Given the description of an element on the screen output the (x, y) to click on. 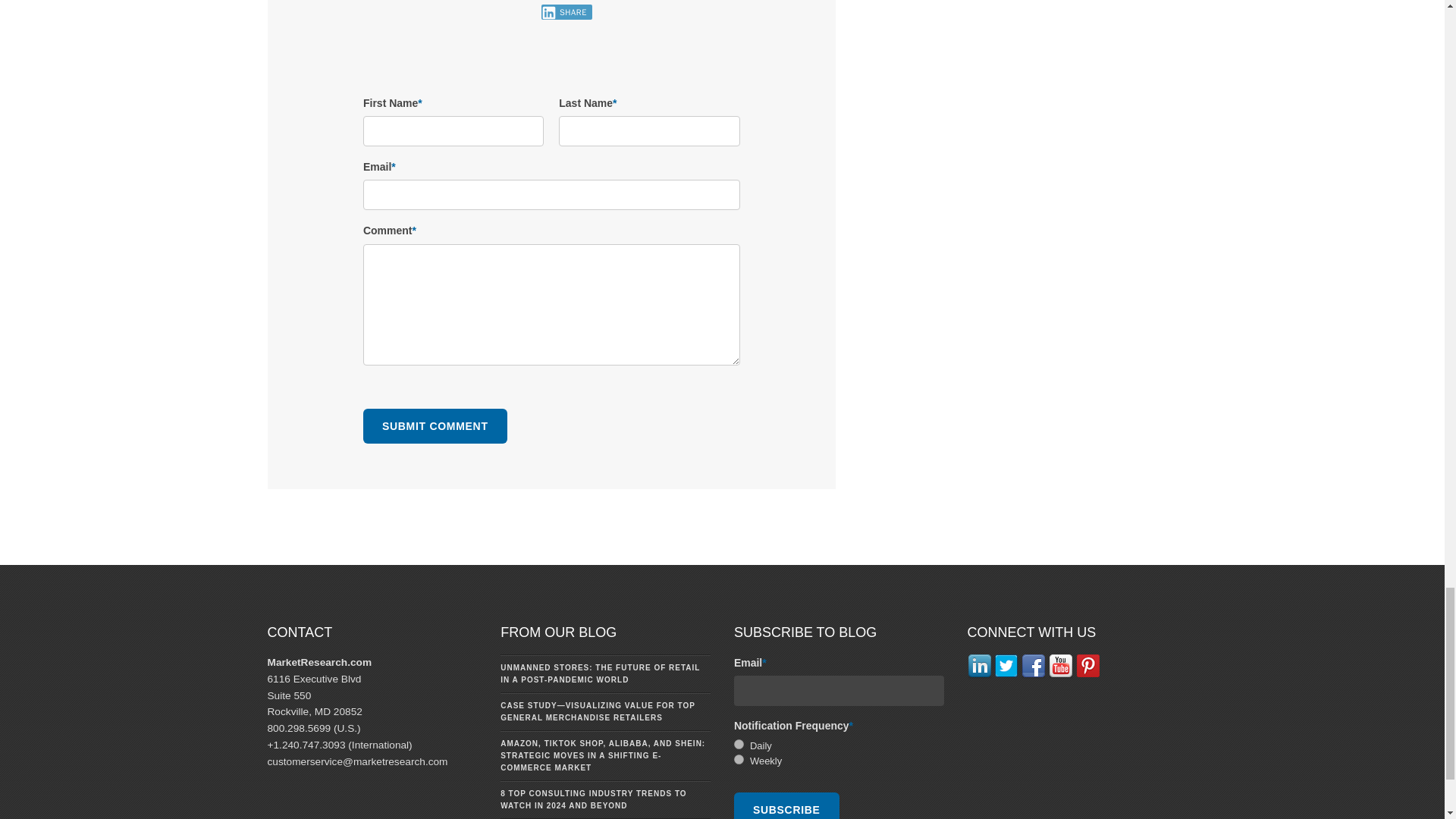
Submit Comment (434, 425)
SHARE (566, 11)
Submit Comment (434, 425)
Subscribe (786, 805)
daily (738, 744)
weekly (738, 759)
